Given the description of an element on the screen output the (x, y) to click on. 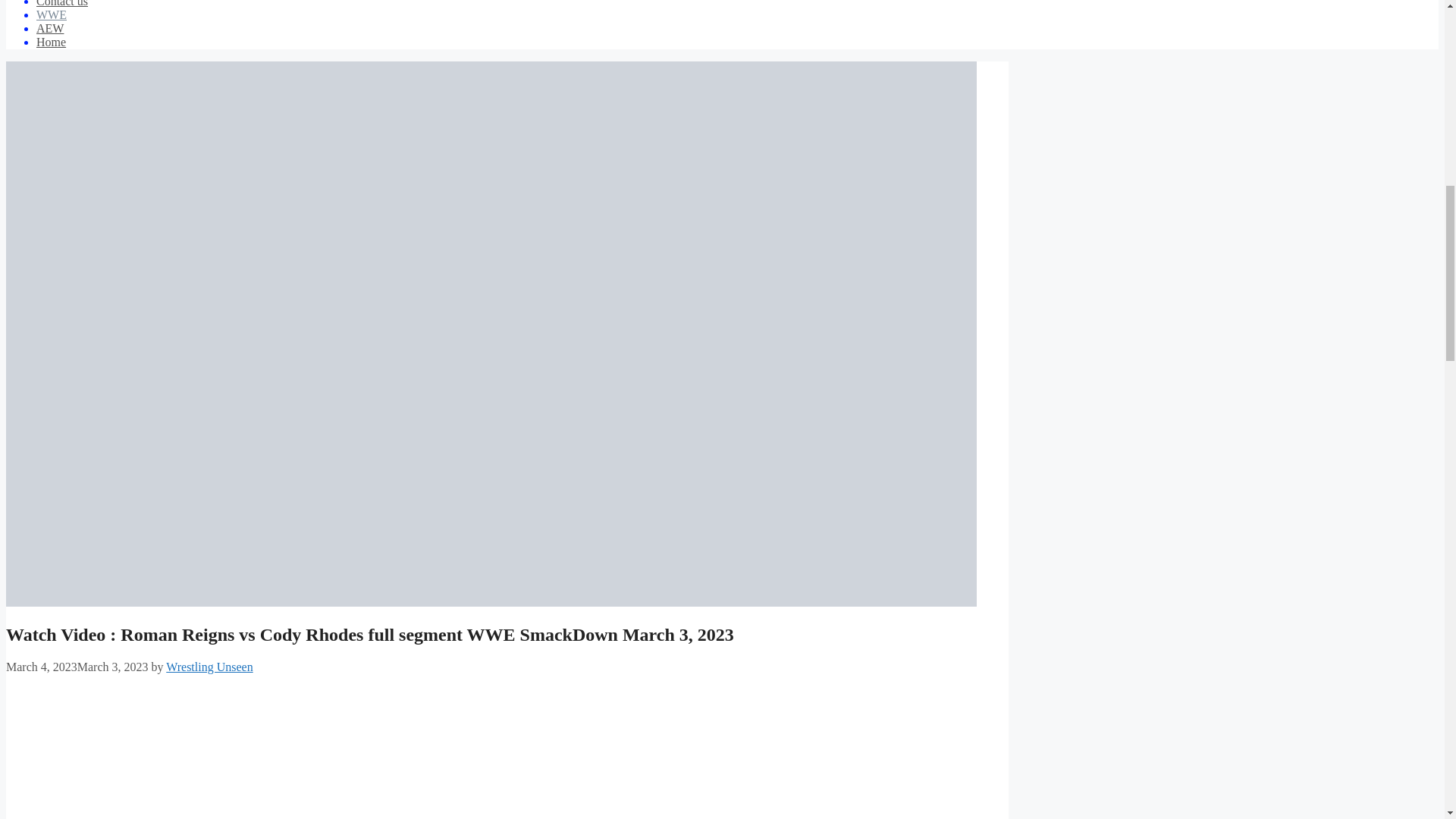
WWE (51, 14)
AEW (50, 28)
Wrestling Unseen (208, 666)
View all posts by Wrestling Unseen (208, 666)
Home (50, 42)
Contact us (61, 3)
YouTube video player (187, 752)
